Given the description of an element on the screen output the (x, y) to click on. 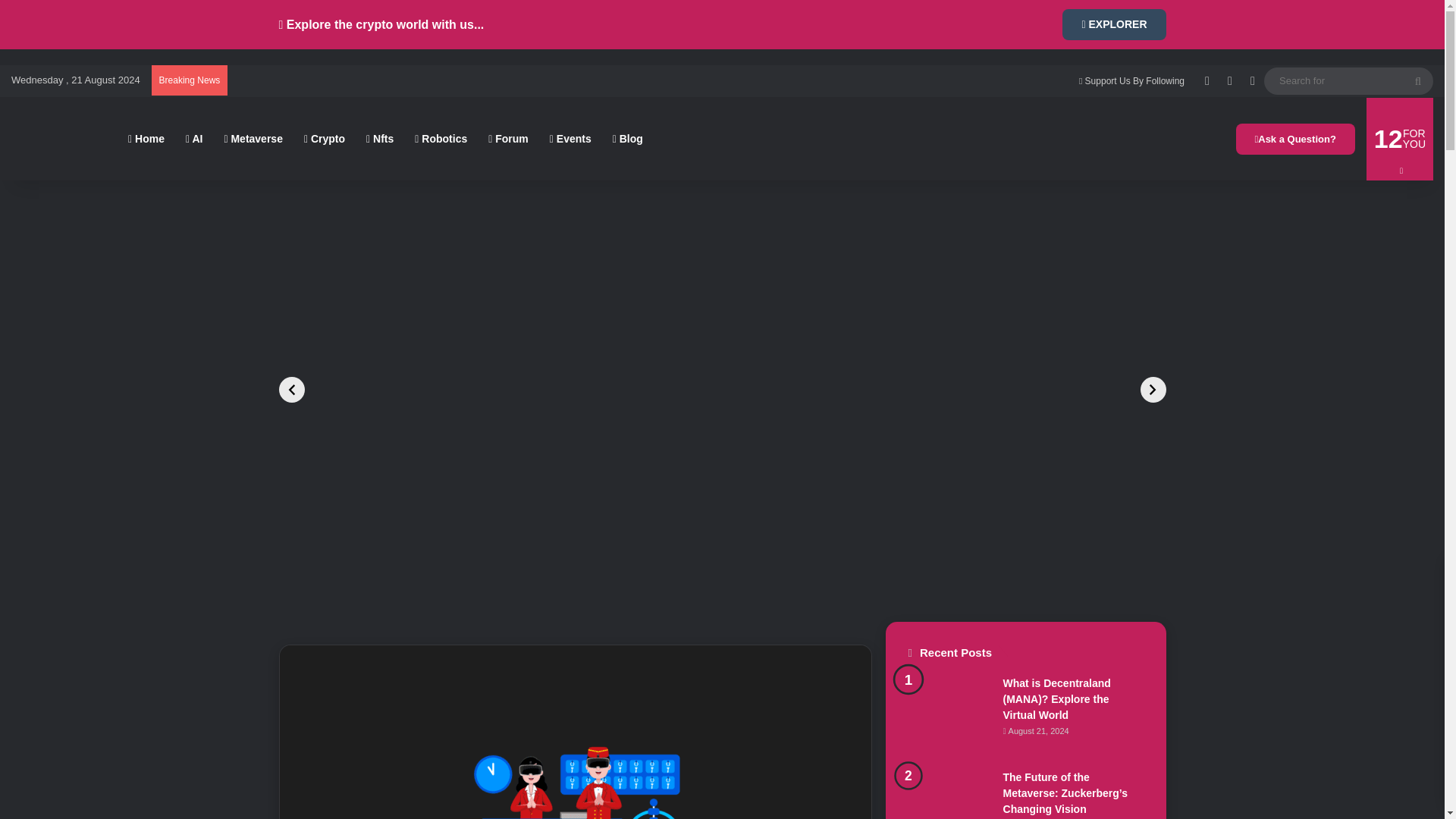
Support Us By Following (1131, 81)
Search for (1417, 81)
Search for (1347, 80)
